Given the description of an element on the screen output the (x, y) to click on. 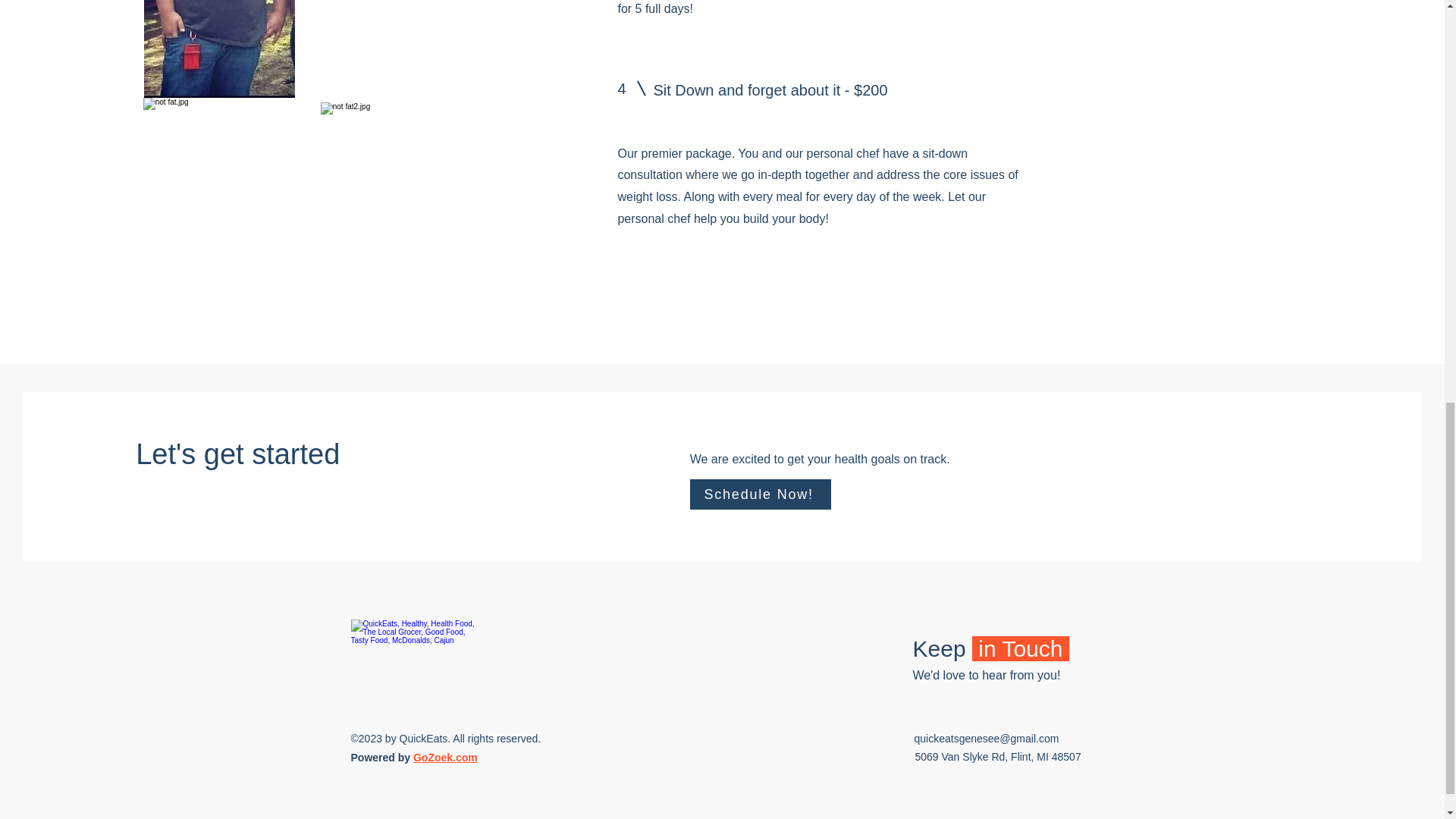
Schedule Now! (760, 494)
GoZoek.com (445, 757)
Keep  in Touch  (990, 648)
